Given the description of an element on the screen output the (x, y) to click on. 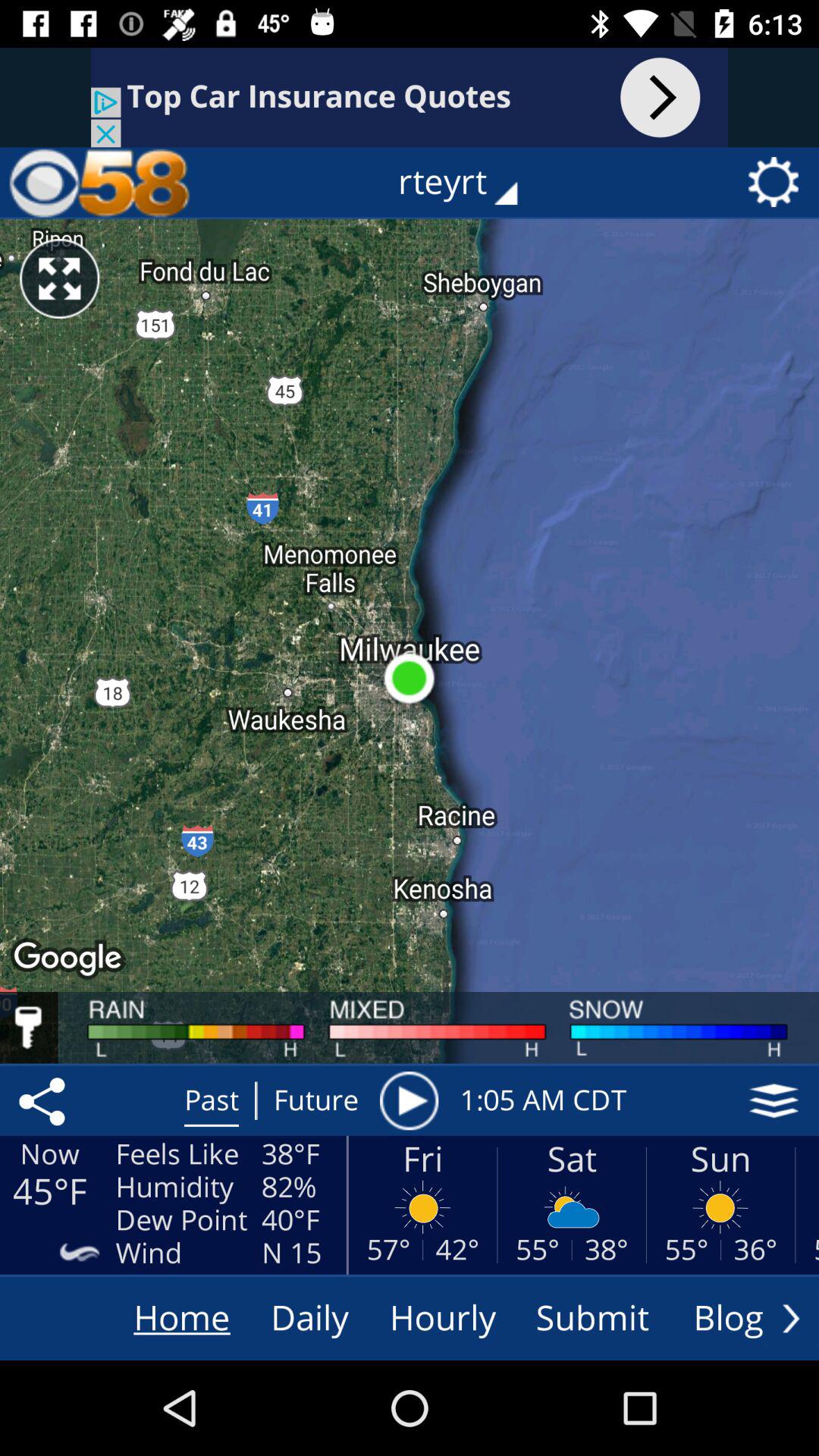
advertising (409, 97)
